Given the description of an element on the screen output the (x, y) to click on. 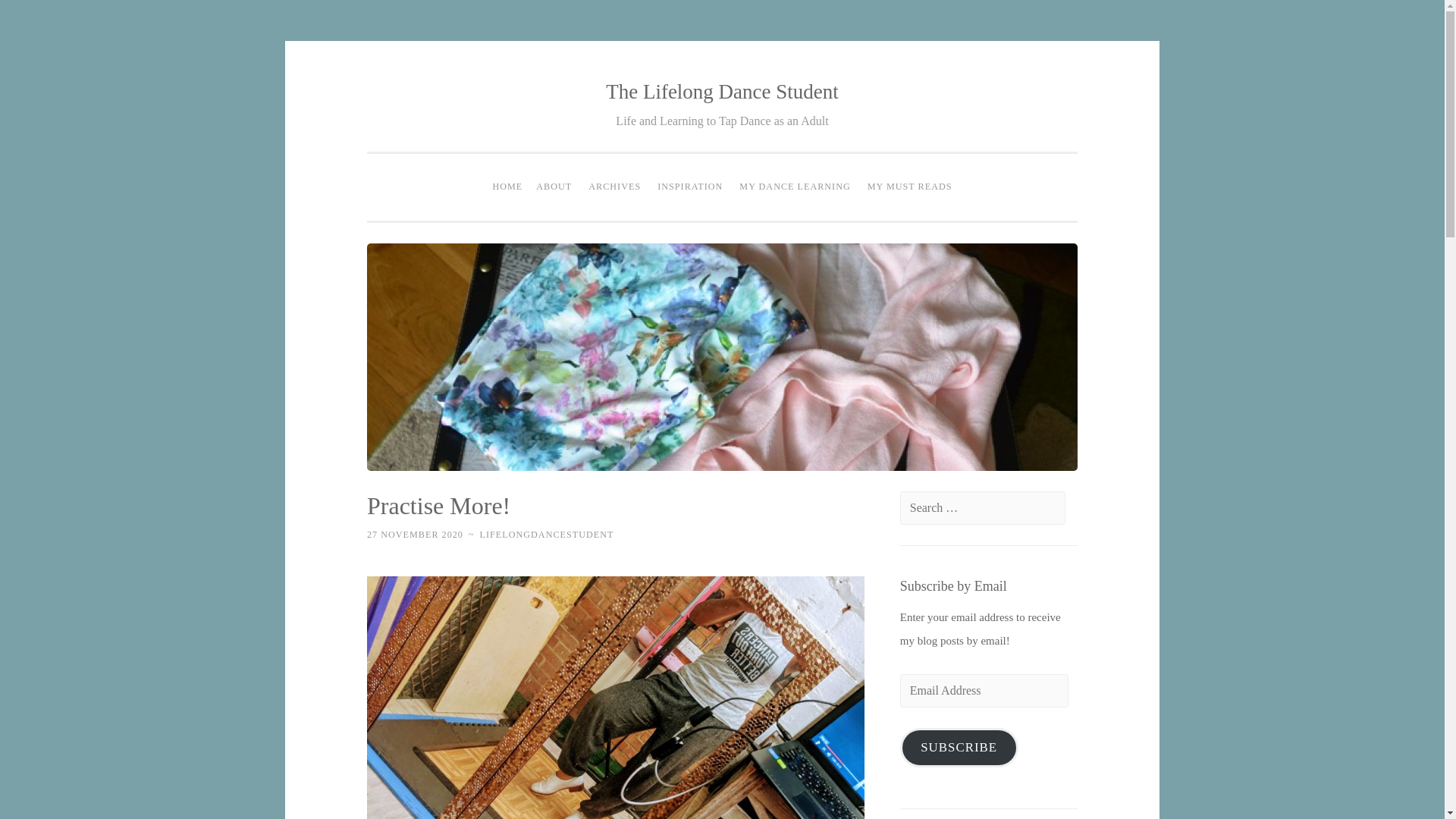
The Lifelong Dance Student (721, 91)
LIFELONGDANCESTUDENT (547, 534)
INSPIRATION (689, 186)
HOME (506, 186)
ARCHIVES (613, 186)
ABOUT (553, 186)
27 NOVEMBER 2020 (414, 534)
MY DANCE LEARNING (794, 186)
MY MUST READS (909, 186)
SUBSCRIBE (958, 748)
Search (39, 16)
